Given the description of an element on the screen output the (x, y) to click on. 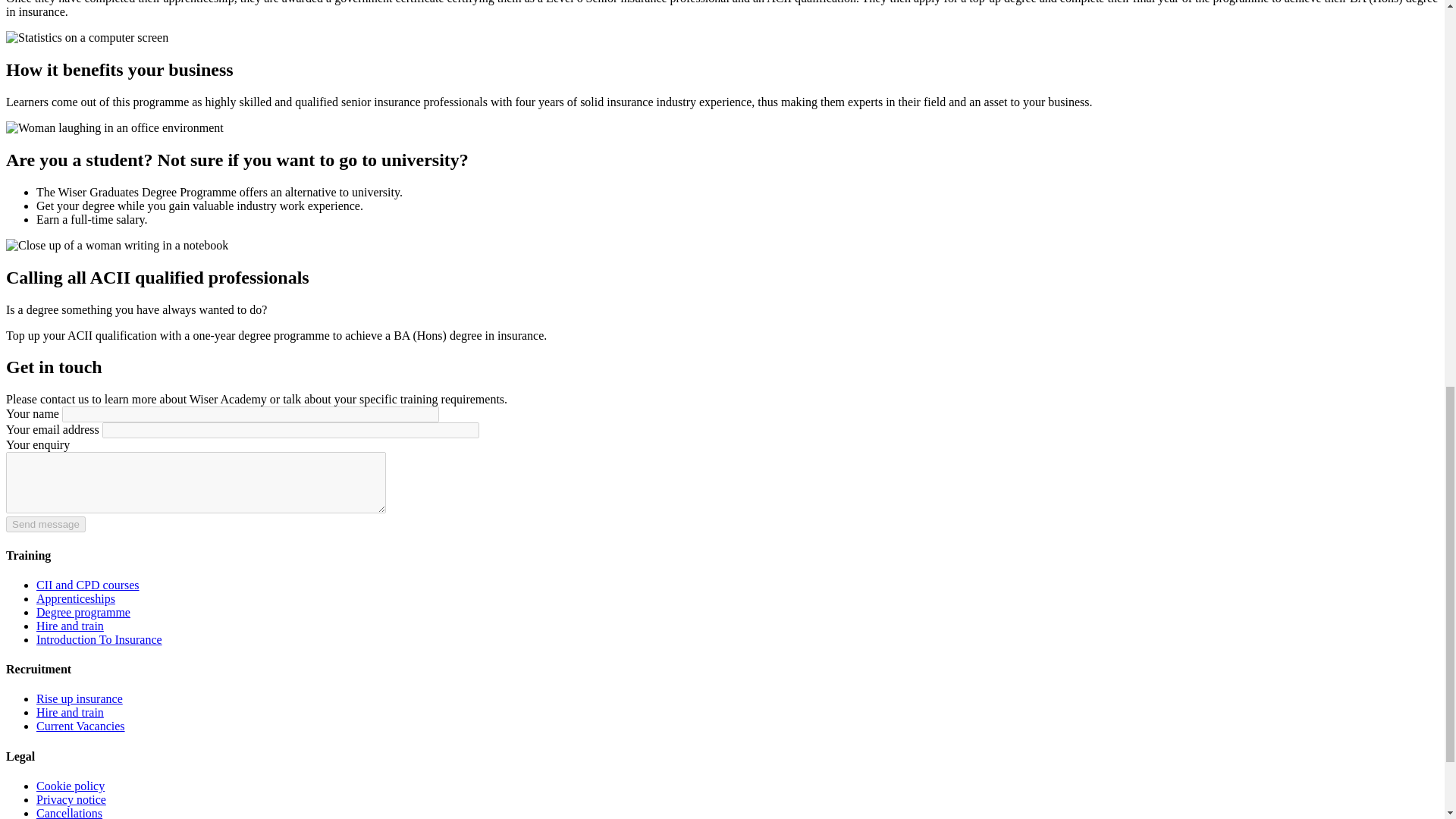
Send message (45, 524)
Current Vacancies (80, 725)
Hire and train (69, 625)
Rise up insurance (79, 698)
Cookie policy (70, 785)
CII and CPD courses (87, 584)
Cancellations (68, 812)
Apprenticeships (75, 598)
Introduction To Insurance (98, 639)
Hire and train (69, 712)
Kickstart (98, 639)
Privacy notice (71, 799)
Send message (45, 524)
Degree programme (83, 612)
